Given the description of an element on the screen output the (x, y) to click on. 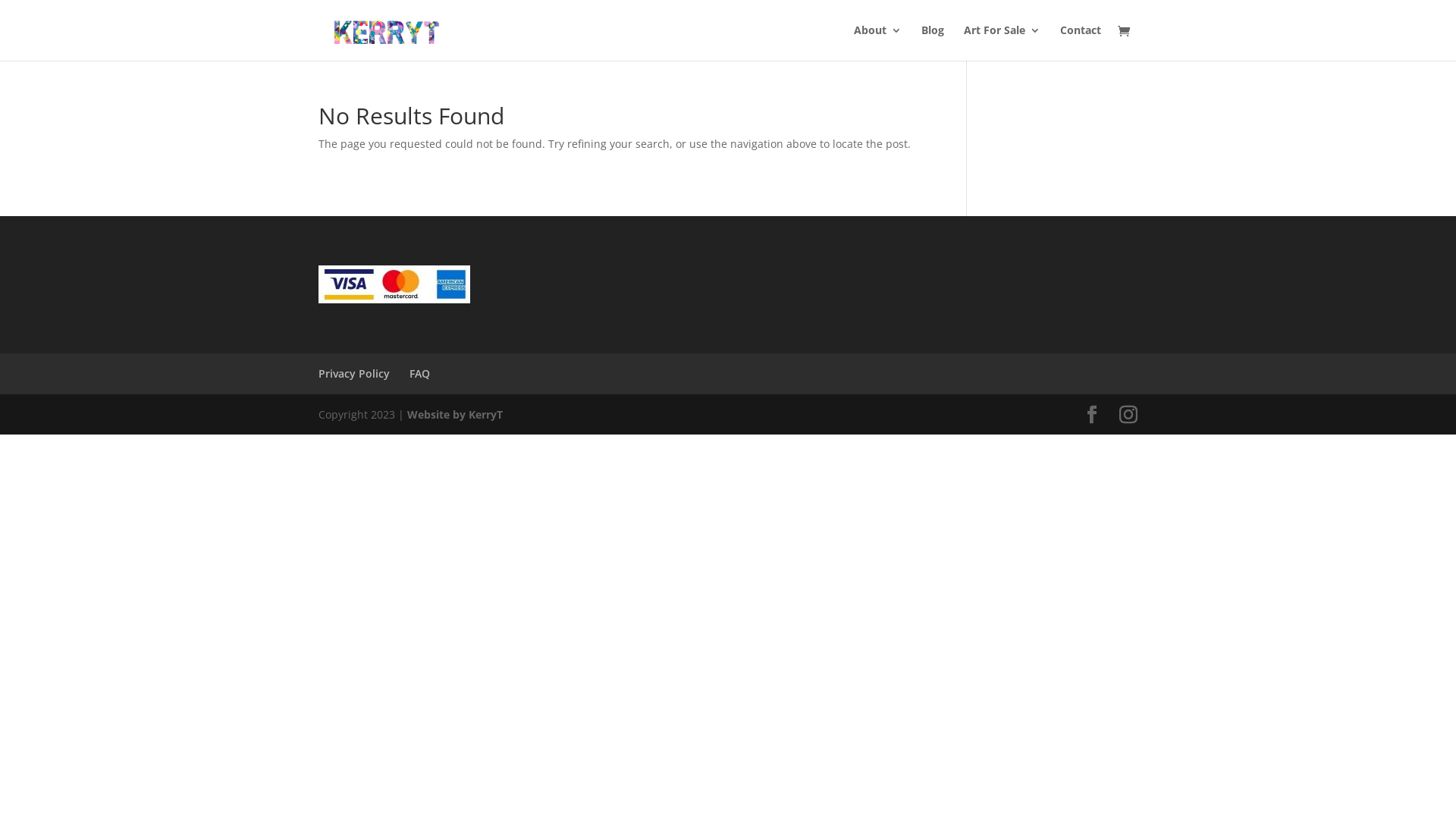
FAQ Element type: text (419, 373)
Website by KerryT Element type: text (454, 414)
Privacy Policy Element type: text (353, 373)
About Element type: text (877, 42)
Contact Element type: text (1080, 42)
Blog Element type: text (932, 42)
Art For Sale Element type: text (1001, 42)
